Given the description of an element on the screen output the (x, y) to click on. 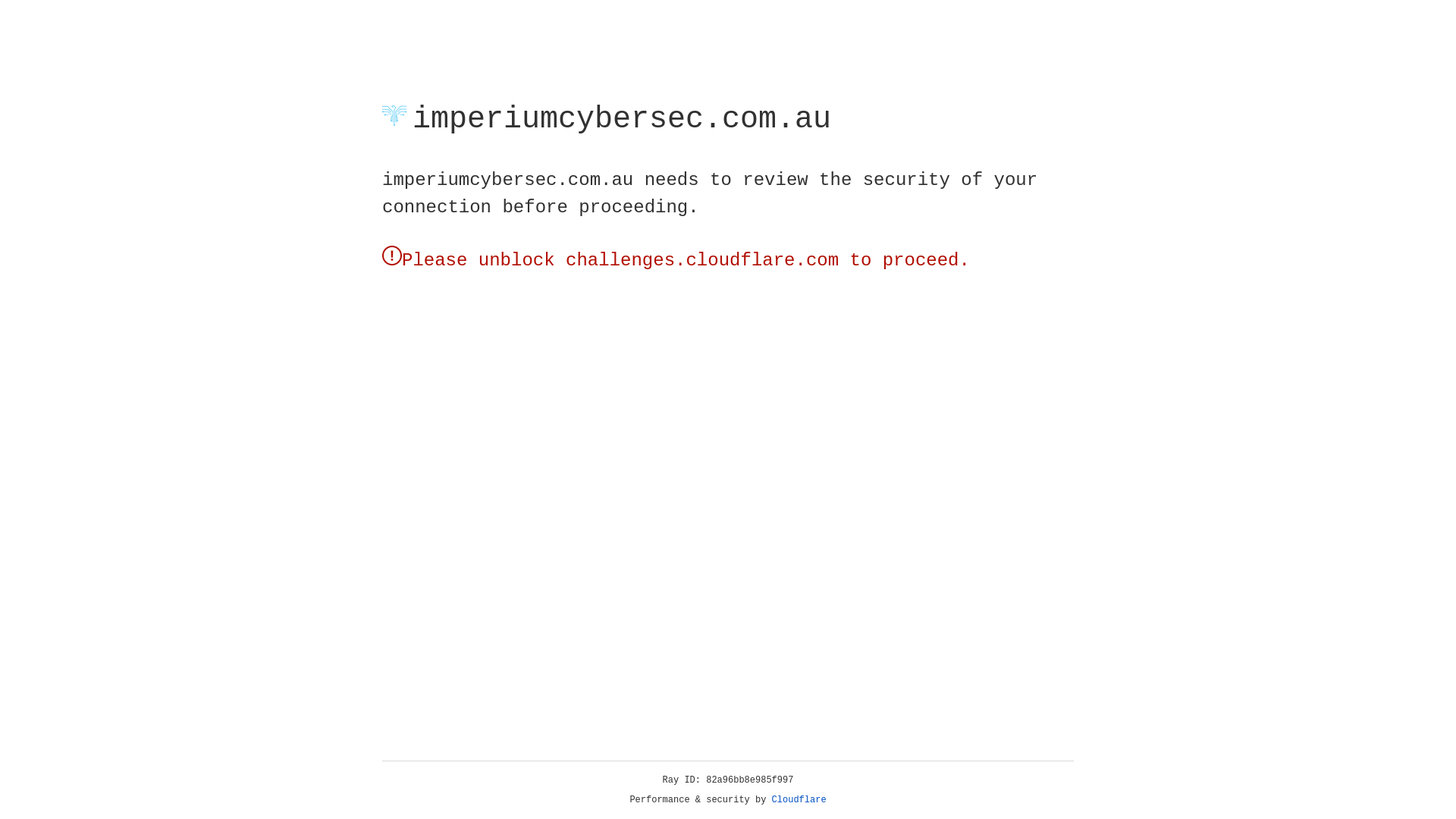
Cloudflare Element type: text (798, 799)
